Given the description of an element on the screen output the (x, y) to click on. 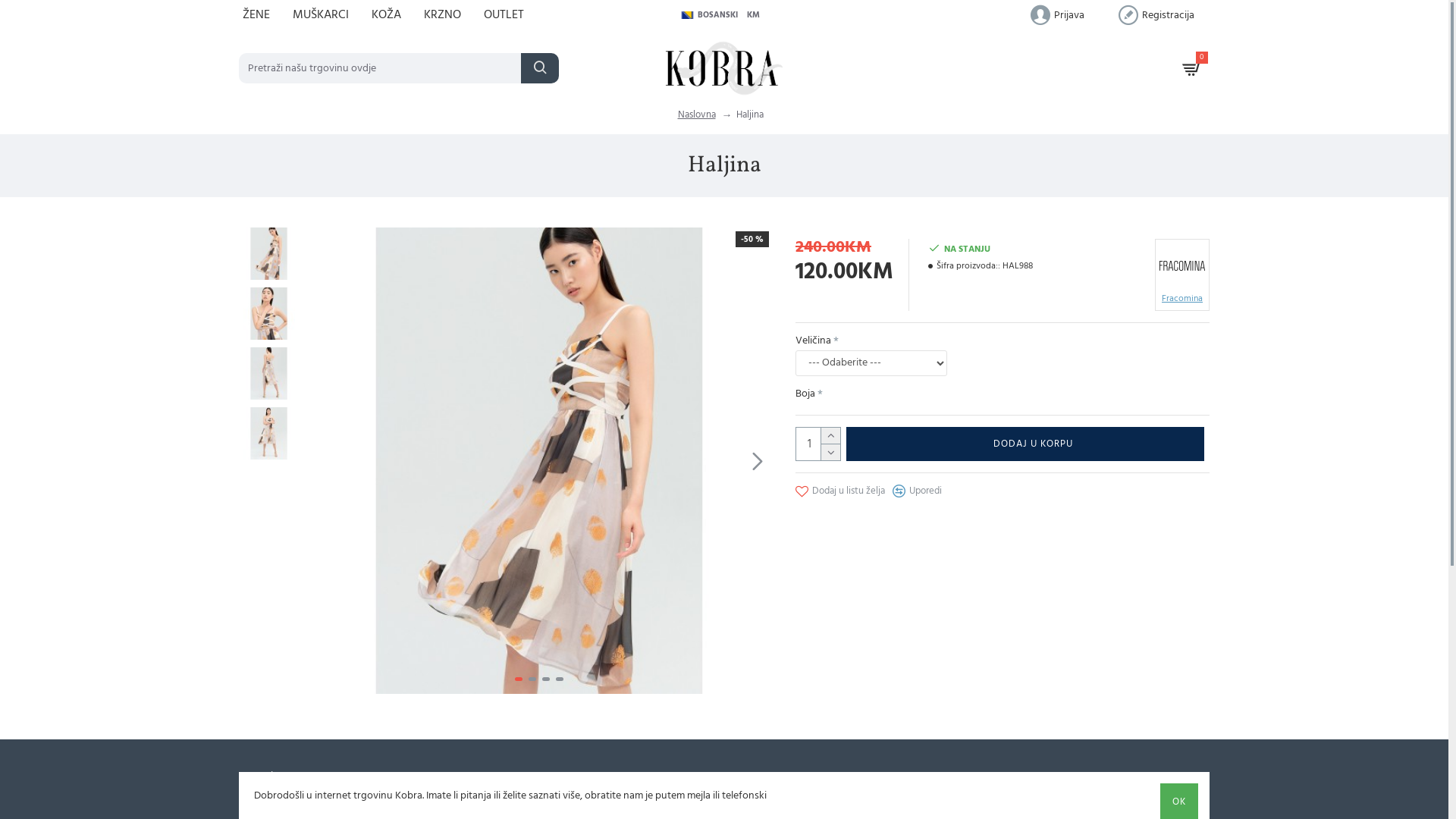
DODAJ U KORPU Element type: text (1025, 443)
BOSANSKI Element type: text (710, 14)
Uporedi Element type: text (916, 490)
OUTLET Element type: text (509, 15)
Prijava Element type: text (1057, 15)
Kobra Element type: hover (723, 68)
KRZNO Element type: text (448, 15)
Haljina Element type: hover (268, 433)
0 Element type: text (1192, 68)
Bosanski Element type: hover (686, 15)
Jakna Element type: text (631, 804)
Haljina Element type: hover (268, 253)
Naslovna Element type: text (696, 114)
Haljina Element type: hover (539, 460)
Registracija Element type: text (1156, 15)
Haljina Element type: text (384, 804)
Haljina Element type: hover (268, 373)
Haljina Element type: text (877, 804)
Haljina Element type: hover (1005, 460)
Popularno Element type: text (269, 776)
Haljina Element type: text (748, 114)
Haljina Element type: text (1124, 804)
Fracomina Element type: text (1181, 274)
KM Element type: text (756, 14)
Haljina Element type: hover (268, 313)
